Given the description of an element on the screen output the (x, y) to click on. 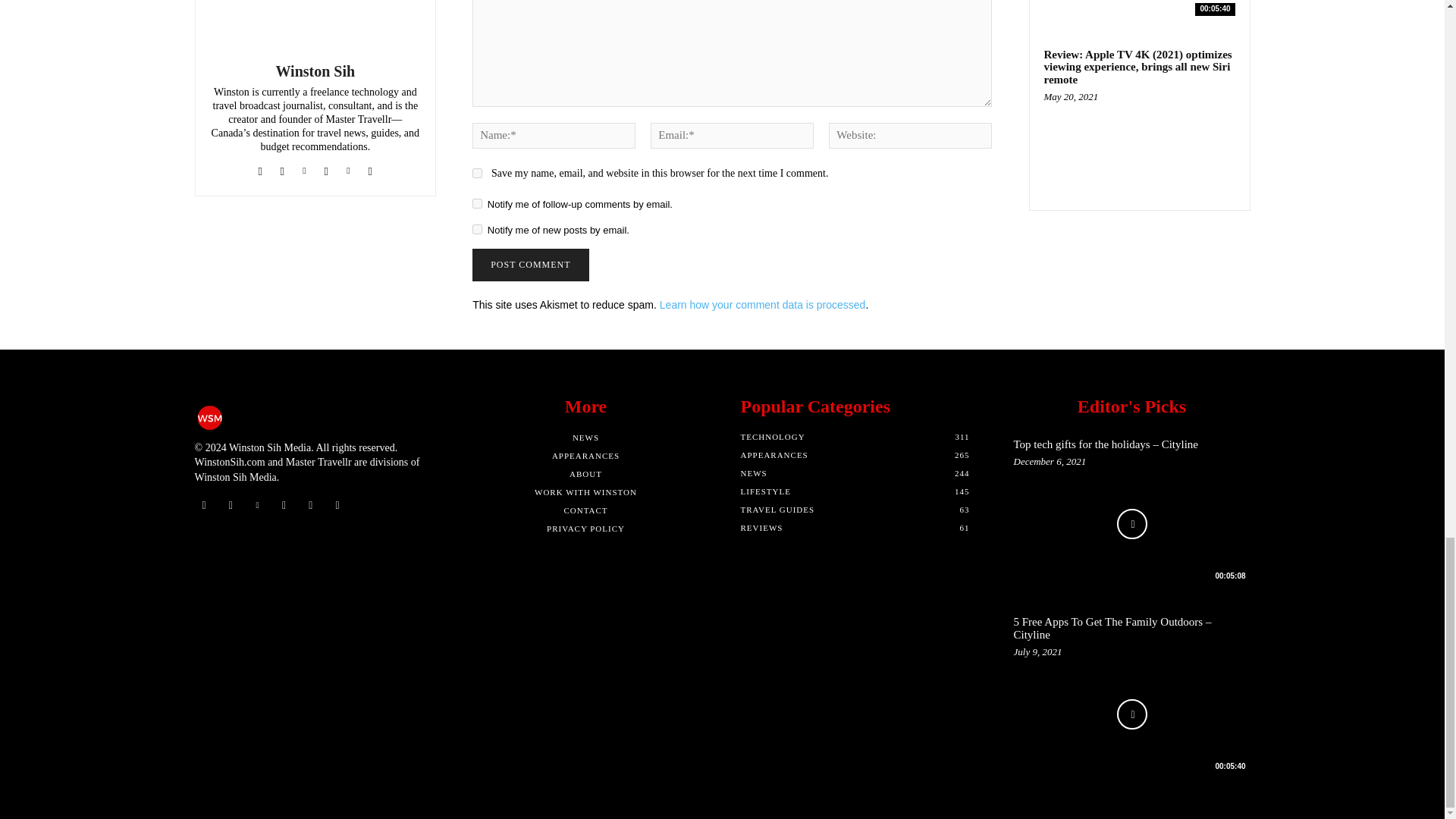
yes (476, 173)
Post Comment (529, 264)
subscribe (476, 203)
subscribe (476, 229)
